Given the description of an element on the screen output the (x, y) to click on. 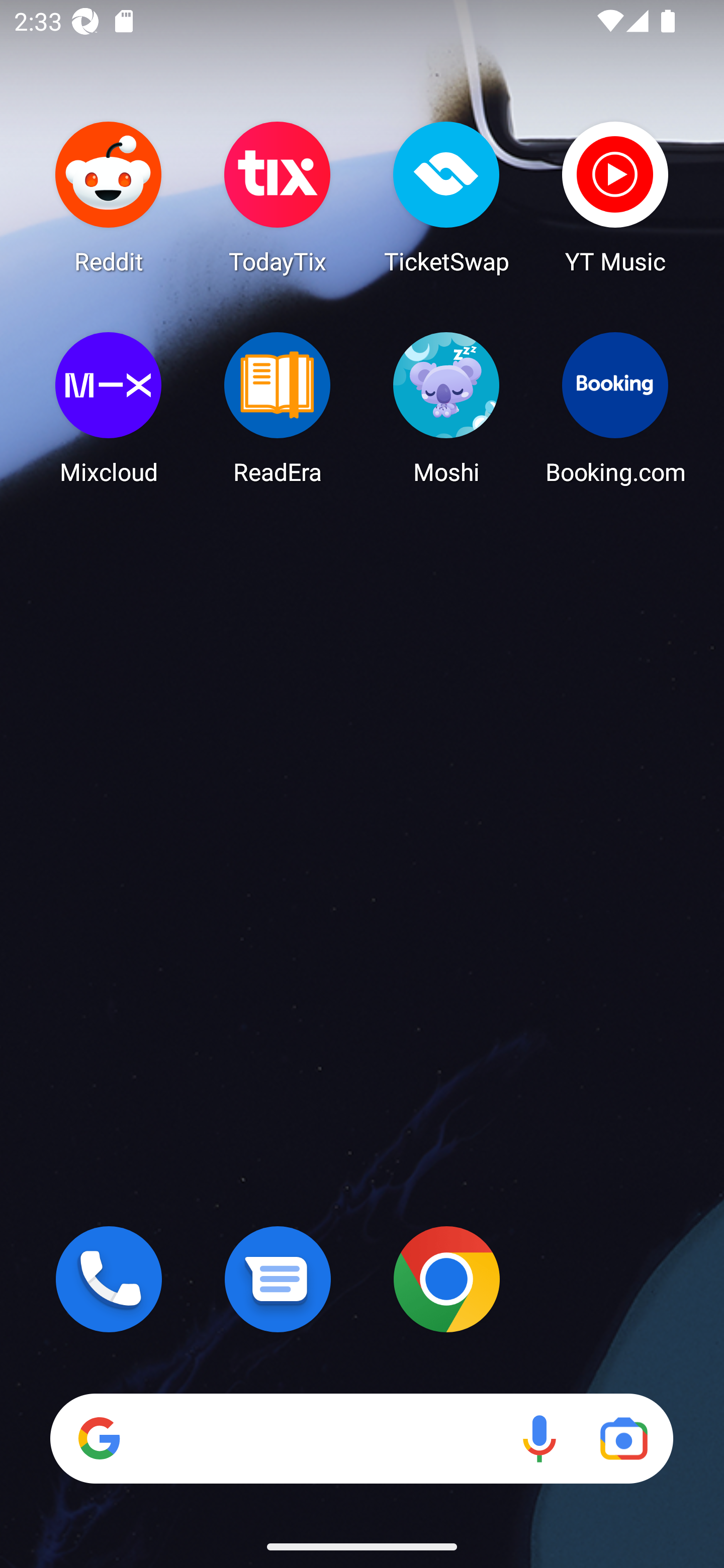
Reddit (108, 196)
TodayTix (277, 196)
TicketSwap (445, 196)
YT Music (615, 196)
Mixcloud (108, 407)
ReadEra (277, 407)
Moshi (445, 407)
Booking.com (615, 407)
Phone (108, 1279)
Messages (277, 1279)
Chrome (446, 1279)
Search Voice search Google Lens (361, 1438)
Voice search (539, 1438)
Google Lens (623, 1438)
